Given the description of an element on the screen output the (x, y) to click on. 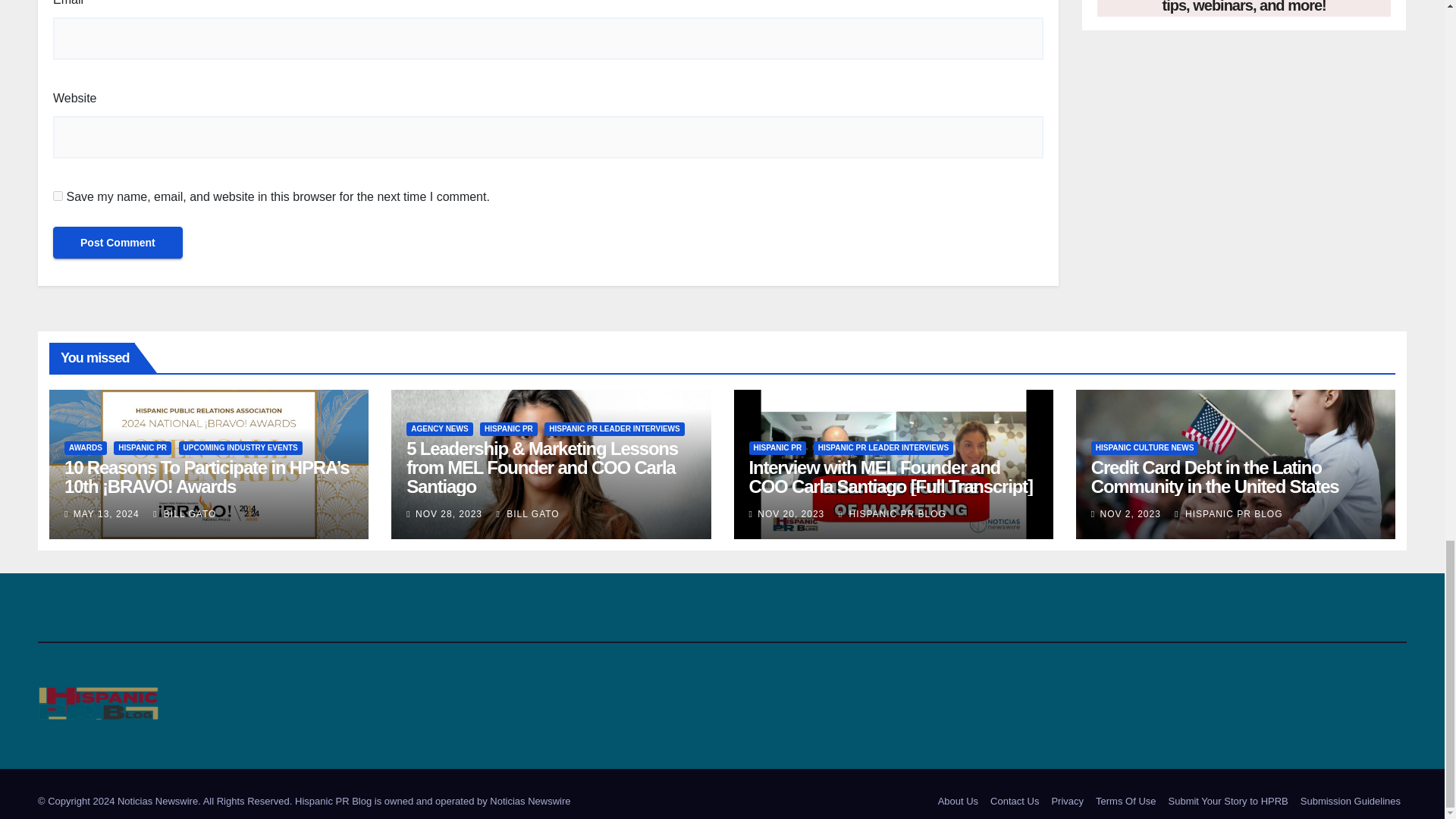
yes (57, 195)
Post Comment (117, 242)
